Given the description of an element on the screen output the (x, y) to click on. 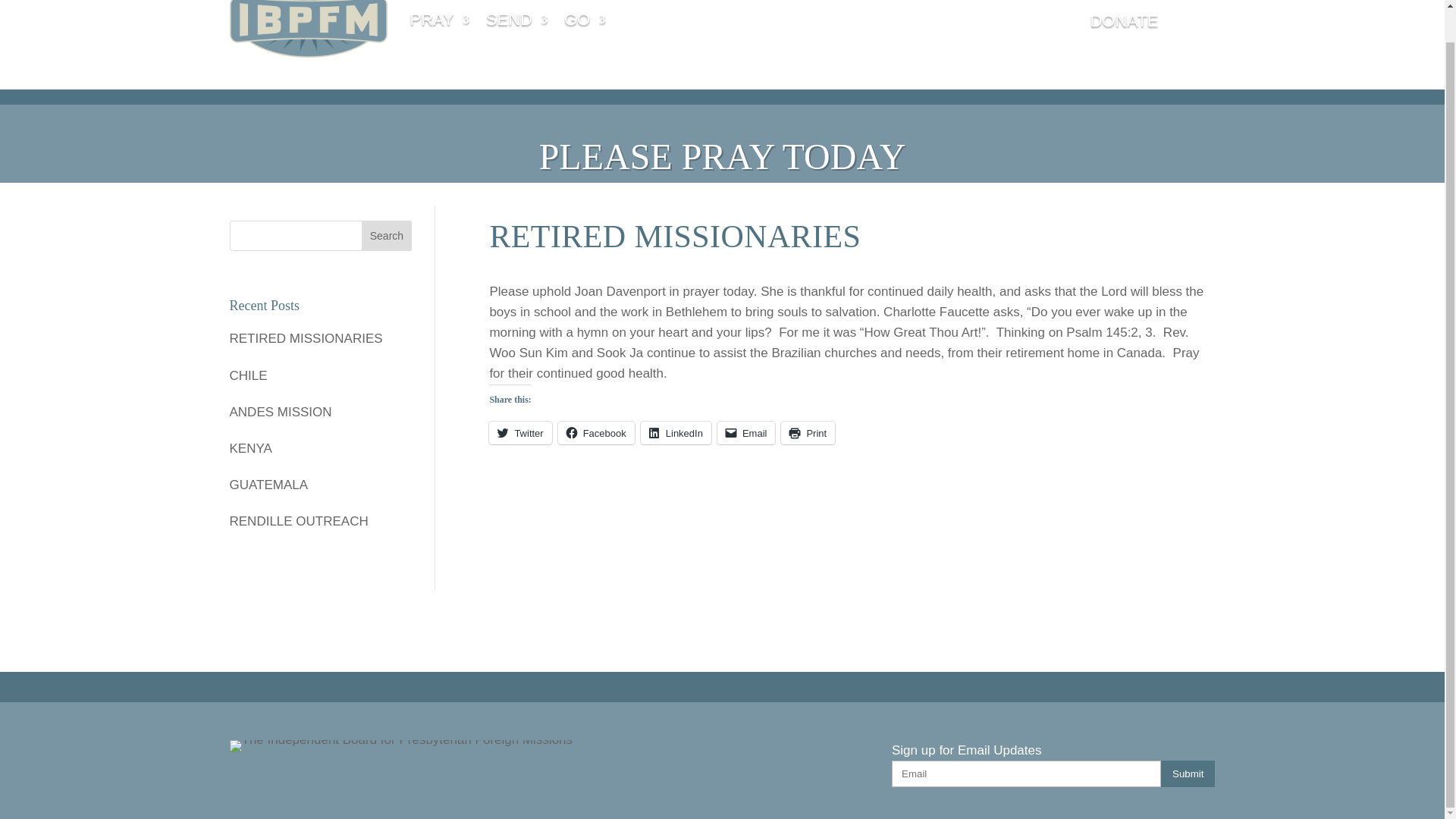
RENDILLE OUTREACH (319, 521)
PRAY (438, 28)
Facebook (595, 432)
Click to share on LinkedIn (675, 432)
ANDES MISSION (319, 412)
LinkedIn (675, 432)
Print (807, 432)
SEND (516, 28)
Click to email a link to a friend (746, 432)
RETIRED MISSIONARIES (319, 338)
